Given the description of an element on the screen output the (x, y) to click on. 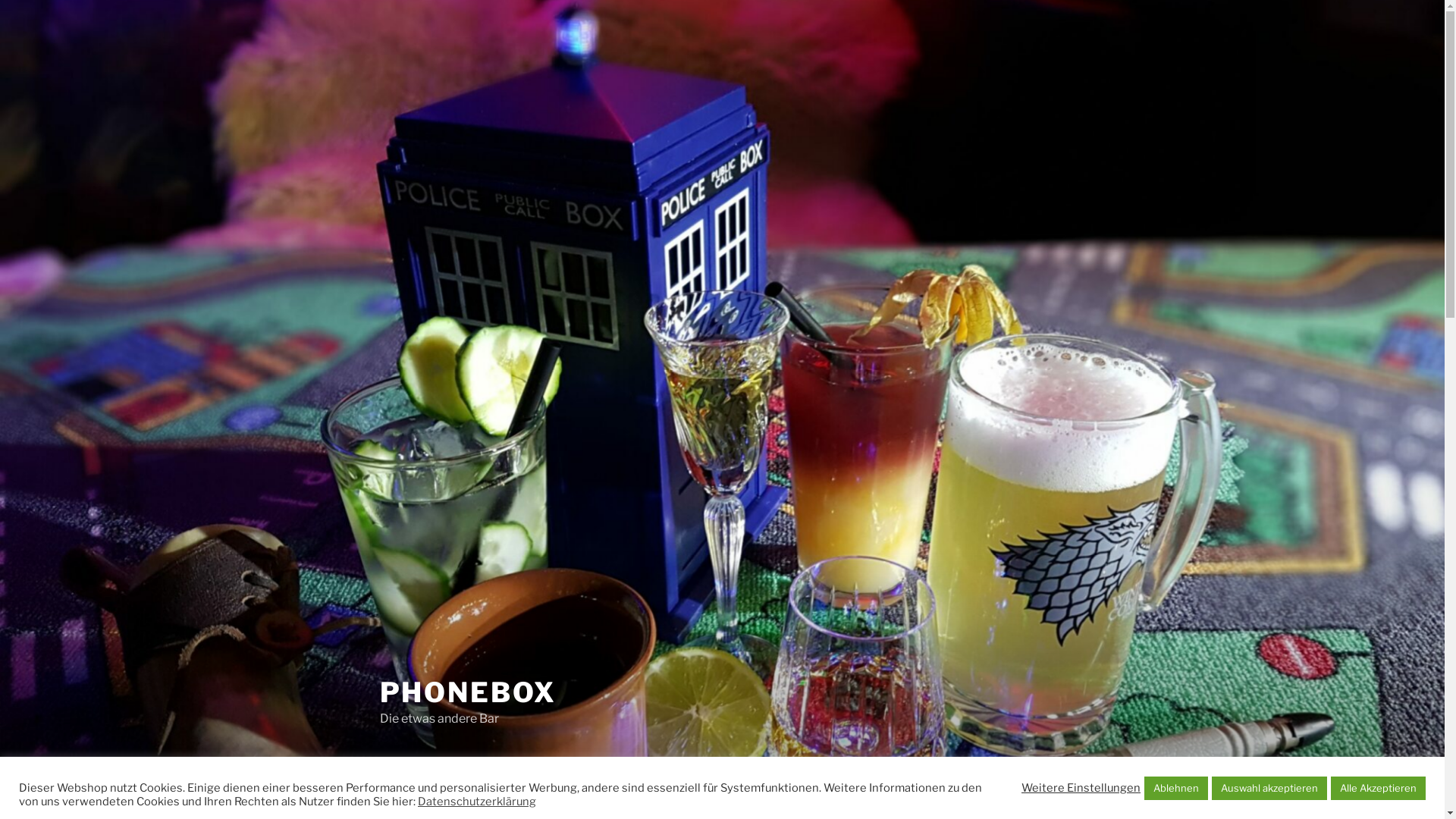
Weitere Einstellungen Element type: text (1080, 787)
Zum Inhalt nach unten scrollen Element type: text (1083, 790)
Alle Akzeptieren Element type: text (1377, 788)
PHONEBOX Element type: text (467, 692)
PhoneBox Element type: text (402, 791)
Impressum Element type: text (587, 791)
Auswahl akzeptieren Element type: text (1269, 788)
Ablehnen Element type: text (1176, 788)
